Given the description of an element on the screen output the (x, y) to click on. 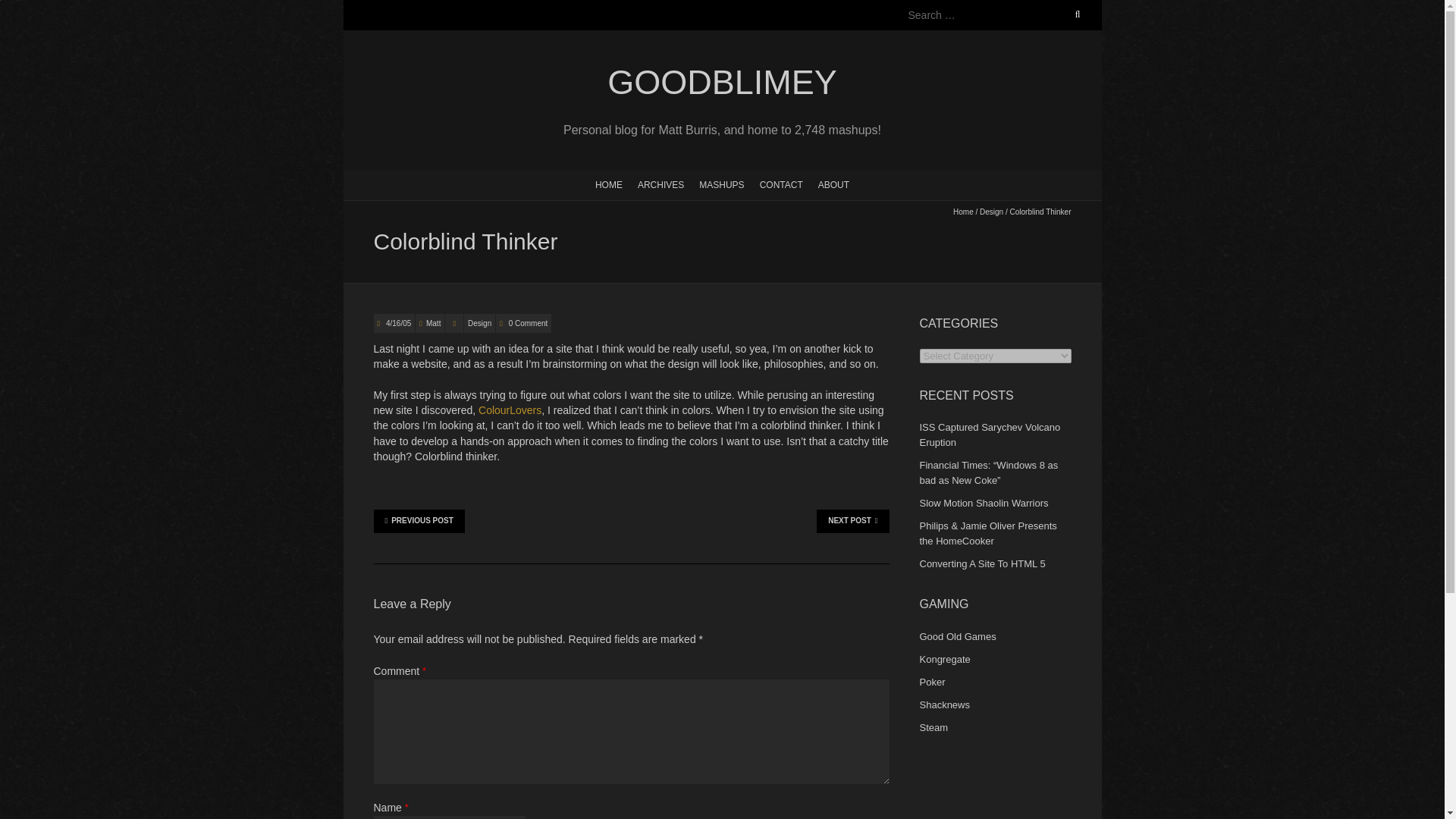
CONTACT (781, 184)
GoodBlimey (721, 82)
Kongregate (943, 659)
View all posts by Matt (433, 323)
Steam (932, 727)
Design (991, 212)
Category (454, 322)
GOODBLIMEY (721, 82)
ABOUT (833, 184)
Slow Motion Shaolin Warriors (983, 502)
NEXT POST (852, 520)
Digital distribution of games and community (932, 727)
Matt (433, 323)
Shacknews (943, 704)
MASHUPS (721, 184)
